Given the description of an element on the screen output the (x, y) to click on. 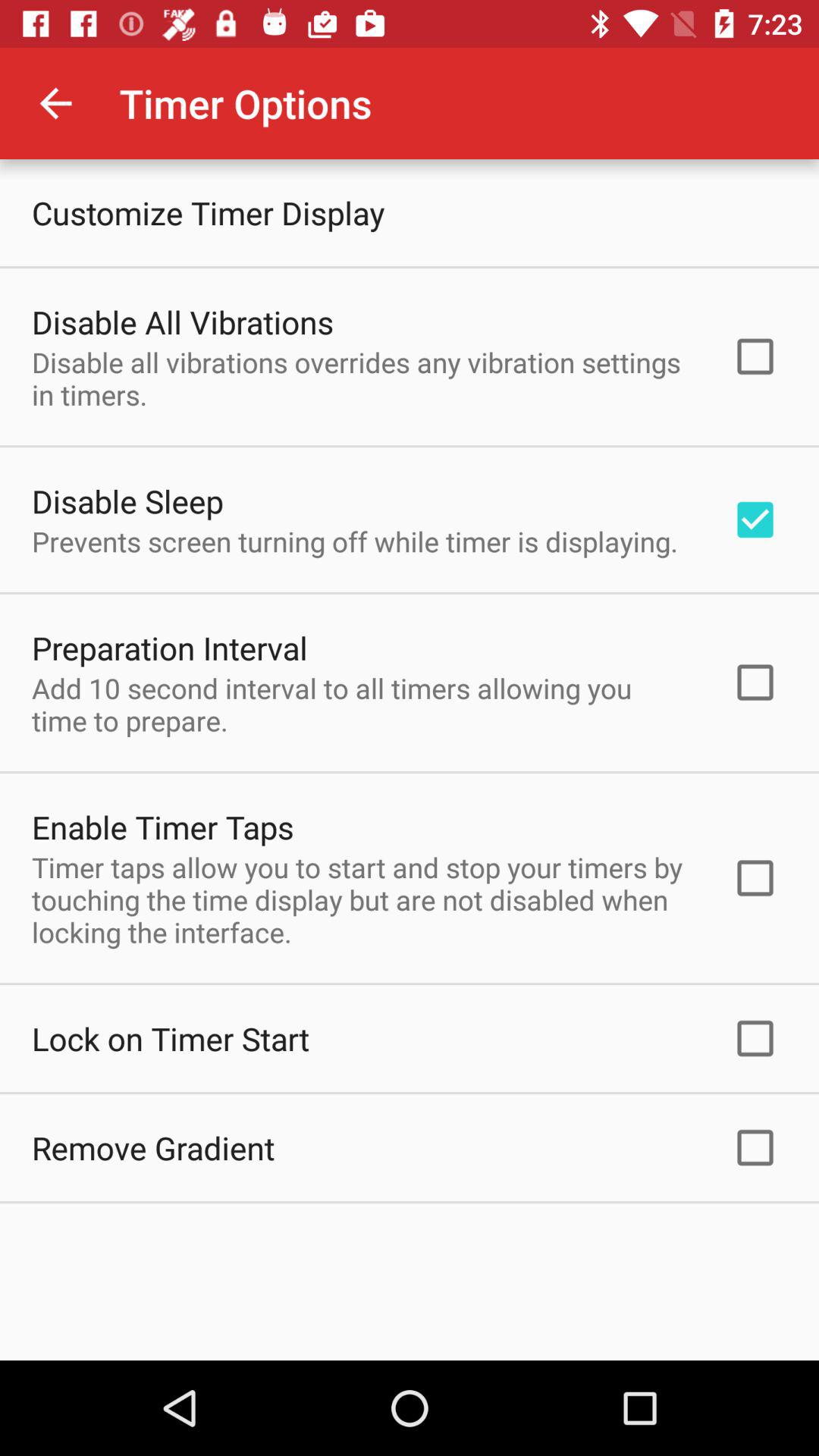
turn on icon below the disable sleep icon (354, 541)
